Given the description of an element on the screen output the (x, y) to click on. 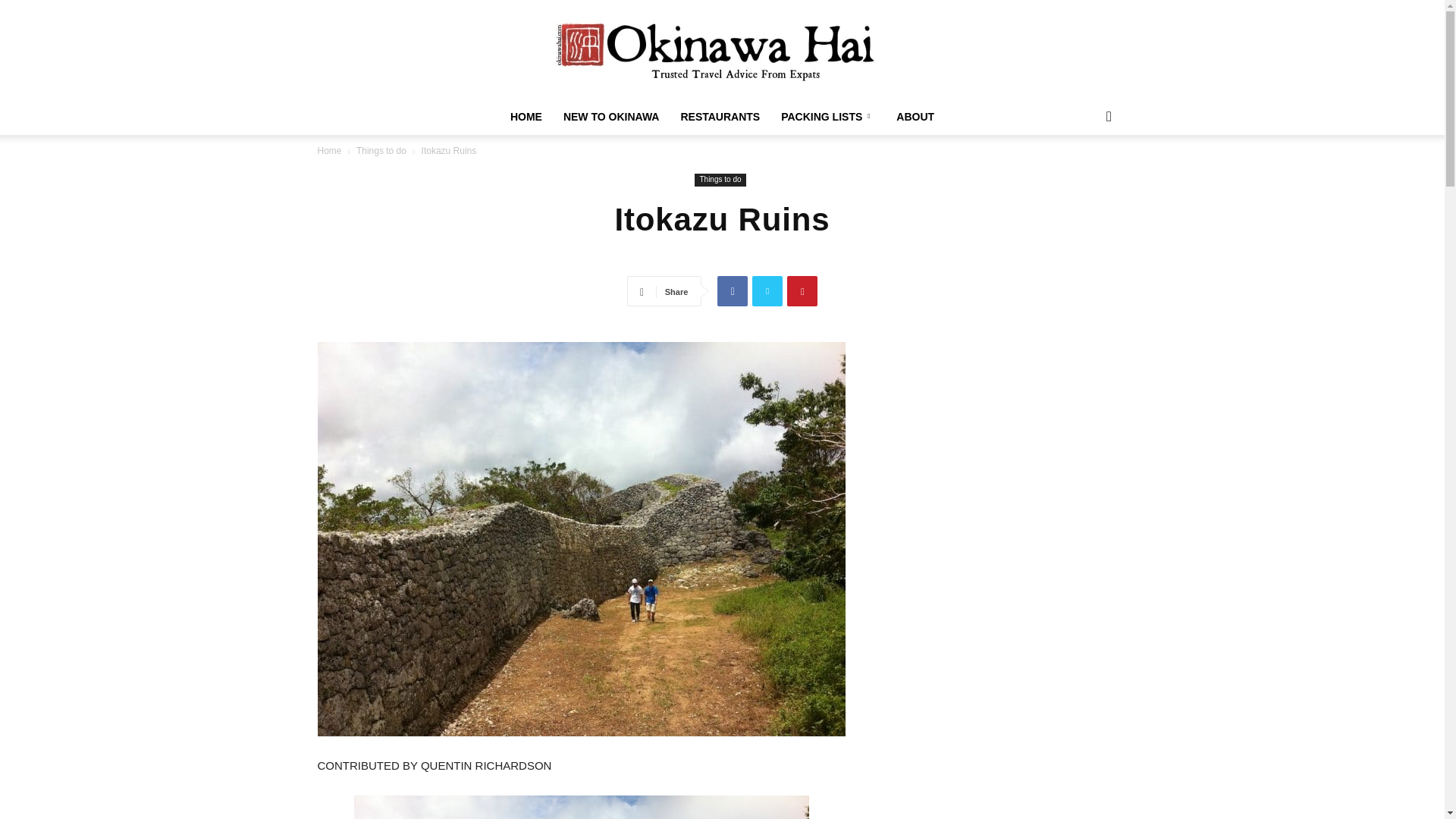
Things to do (719, 179)
HOME (526, 116)
Search (1085, 177)
ABOUT (914, 116)
Itokazu 1 (580, 807)
PACKING LISTS (827, 116)
Home (328, 150)
View all posts in Things to do (381, 150)
NEW TO OKINAWA (611, 116)
RESTAURANTS (719, 116)
Things to do (381, 150)
